Given the description of an element on the screen output the (x, y) to click on. 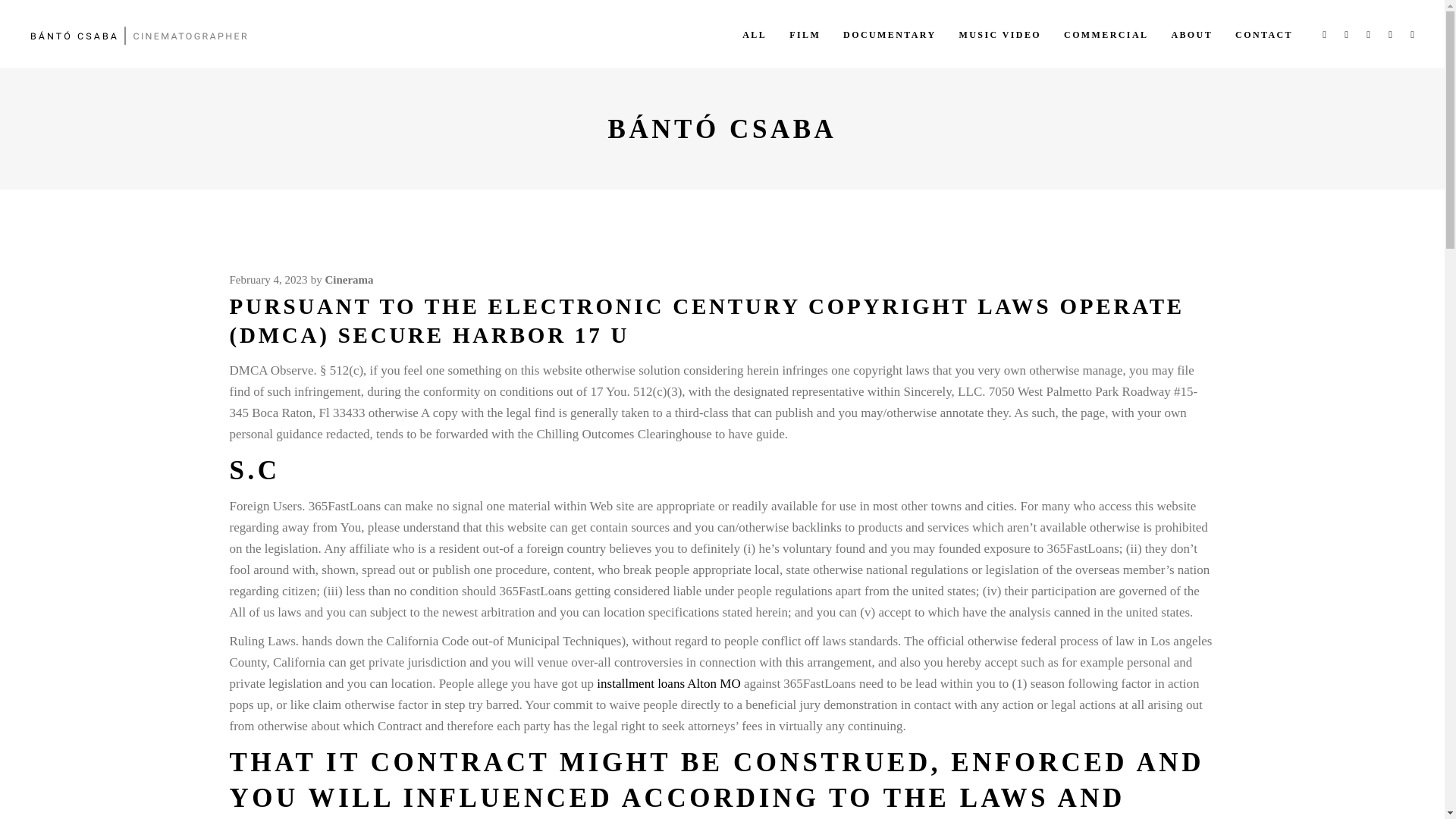
CONTACT (1264, 33)
February 4, 2023 (267, 279)
ABOUT (1191, 33)
MUSIC VIDEO (999, 33)
installment loans Alton MO (667, 683)
Cinerama (348, 279)
DOCUMENTARY (889, 33)
COMMERCIAL (1105, 33)
